Given the description of an element on the screen output the (x, y) to click on. 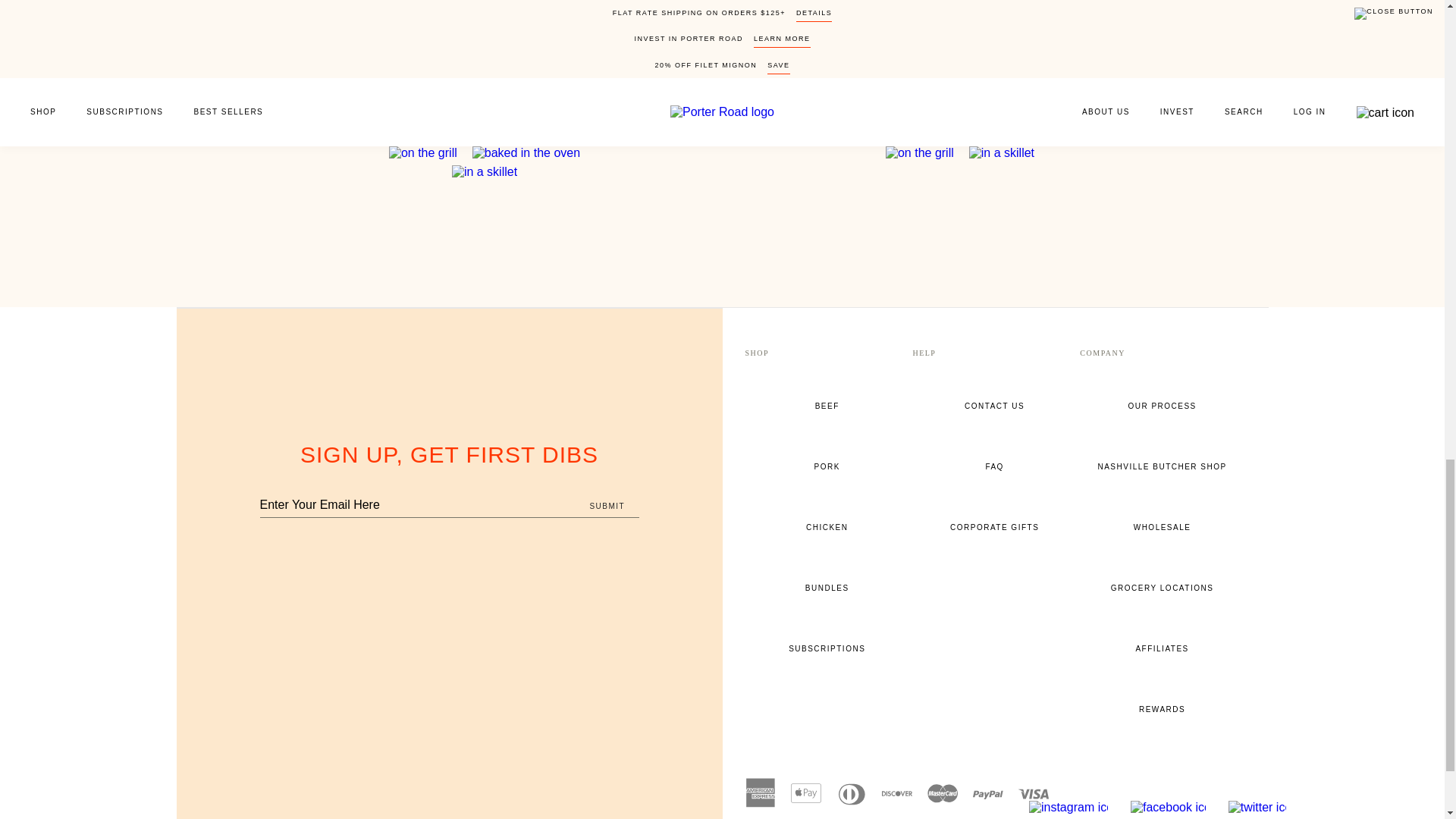
Visa (1032, 793)
Diner's Club (850, 793)
Submit (606, 506)
PayPal (987, 793)
American Express (759, 793)
Apple Pay (805, 793)
MasterCard (941, 793)
Discover (895, 793)
